Given the description of an element on the screen output the (x, y) to click on. 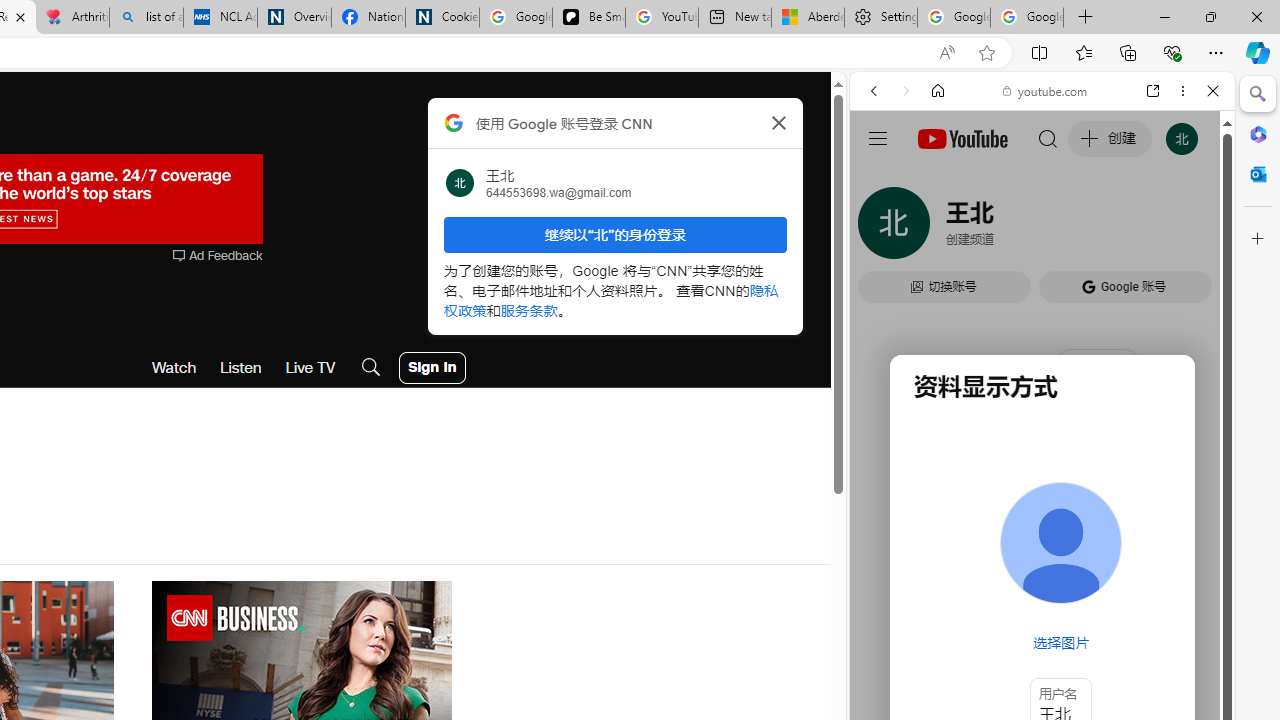
Class: Bz112c Bz112c-r9oPif (778, 122)
YouTube (1034, 296)
Google (947, 584)
#you (1042, 445)
Trailer #2 [HD] (1042, 594)
This site scope (936, 180)
Web scope (882, 180)
Watch (174, 367)
